Given the description of an element on the screen output the (x, y) to click on. 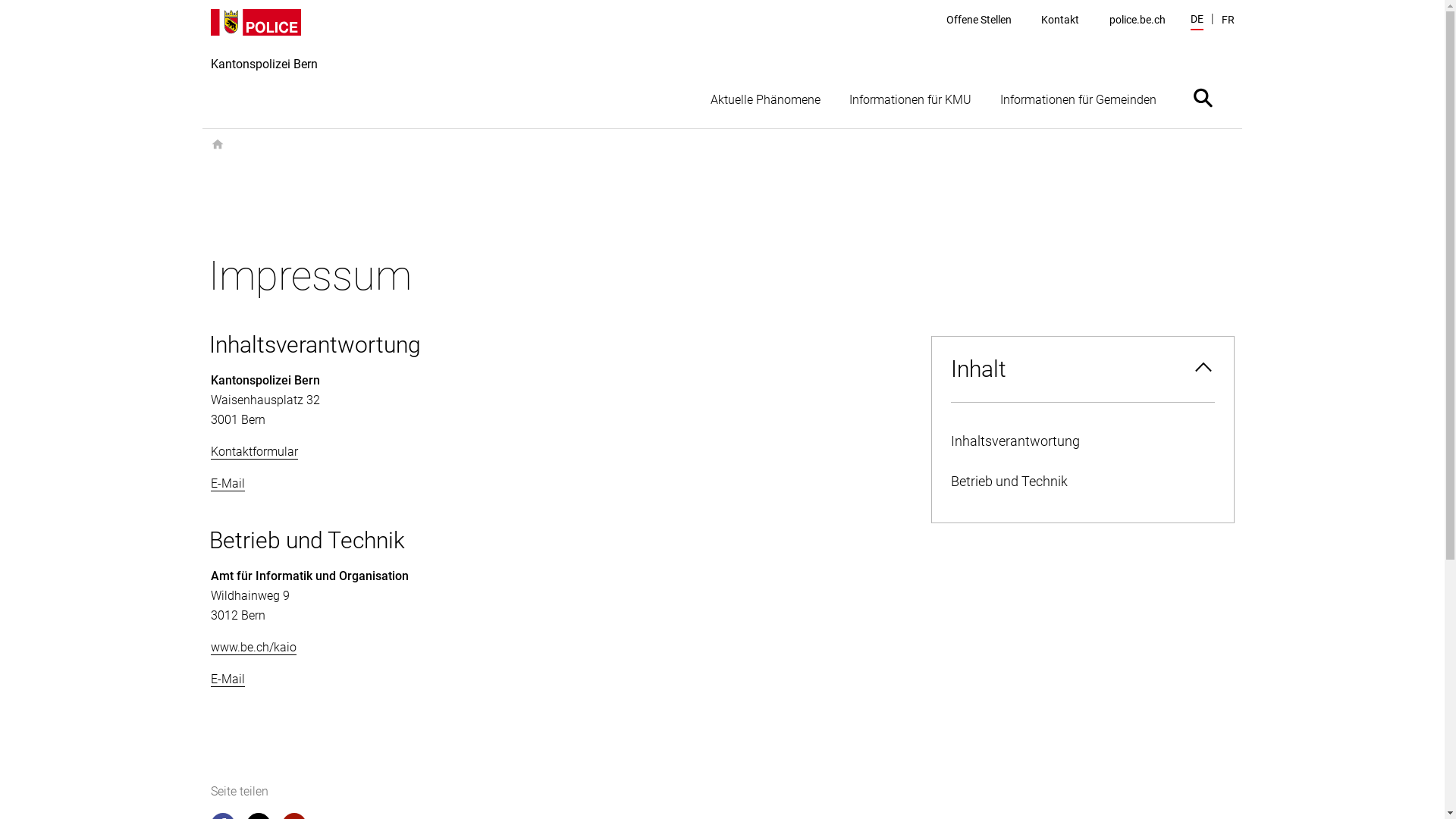
www.be.ch/kaio Element type: text (253, 647)
DE Element type: text (1196, 21)
Inhaltsverantwortung Element type: text (1082, 441)
Suche ein- oder ausblenden Element type: text (1201, 96)
FR Element type: text (1226, 19)
Kontakt Element type: text (1060, 19)
Inhalt Element type: text (1082, 368)
Kantonspolizei Bern Element type: text (263, 68)
Kontaktformular Element type: text (254, 451)
E-Mail Element type: text (227, 483)
police.be.ch Element type: text (1137, 19)
Offene Stellen Element type: text (978, 19)
E-Mail Element type: text (227, 679)
Betrieb und Technik Element type: text (1082, 481)
